Given the description of an element on the screen output the (x, y) to click on. 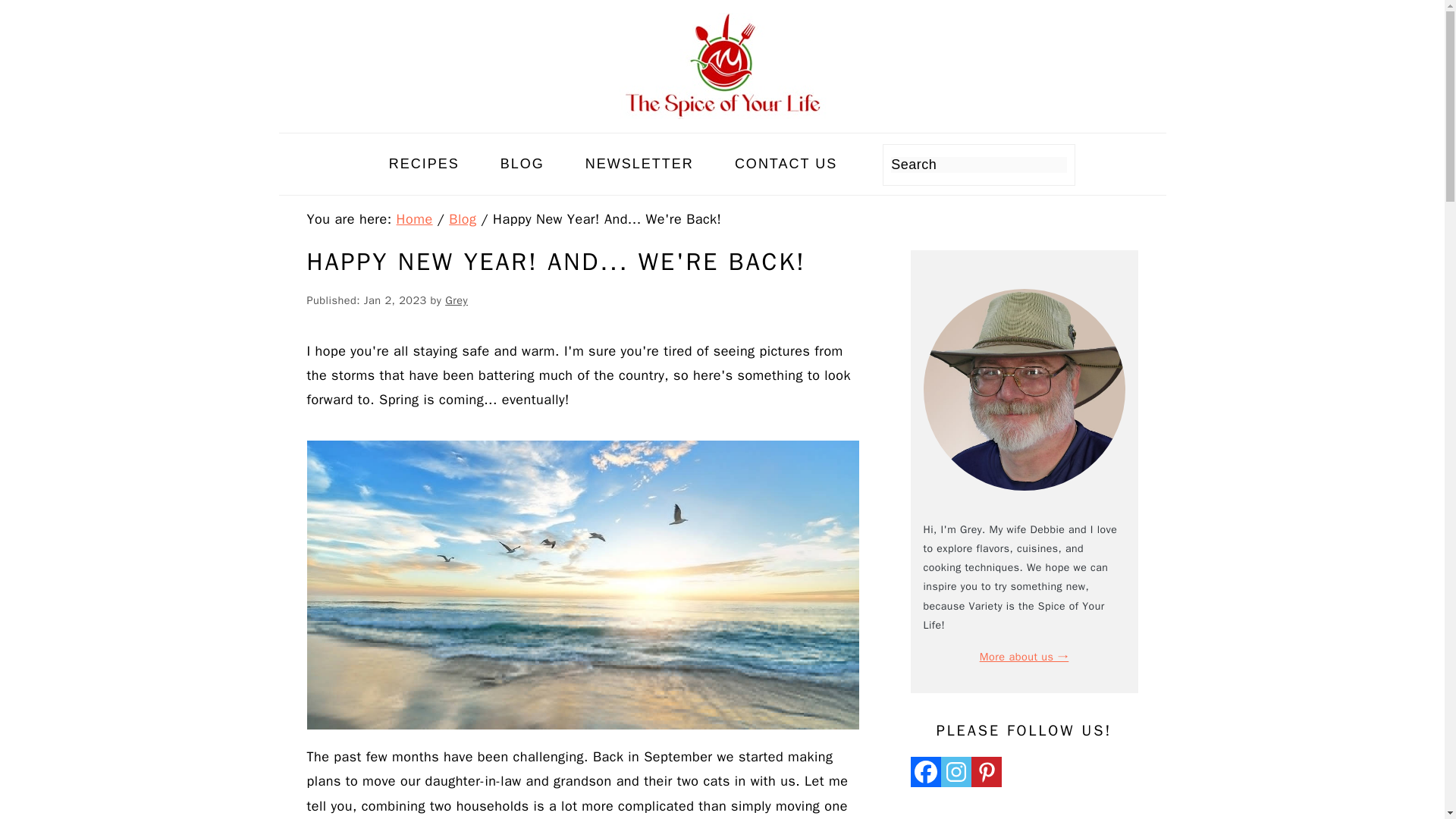
BLOG (522, 163)
Pinterest (986, 771)
Grey (456, 300)
Facebook (925, 771)
Instagram (955, 771)
Blog (462, 218)
RECIPES (424, 163)
Home (414, 218)
NEWSLETTER (639, 163)
The Spice of Your Life (721, 65)
The Spice of Your Life (721, 114)
